Given the description of an element on the screen output the (x, y) to click on. 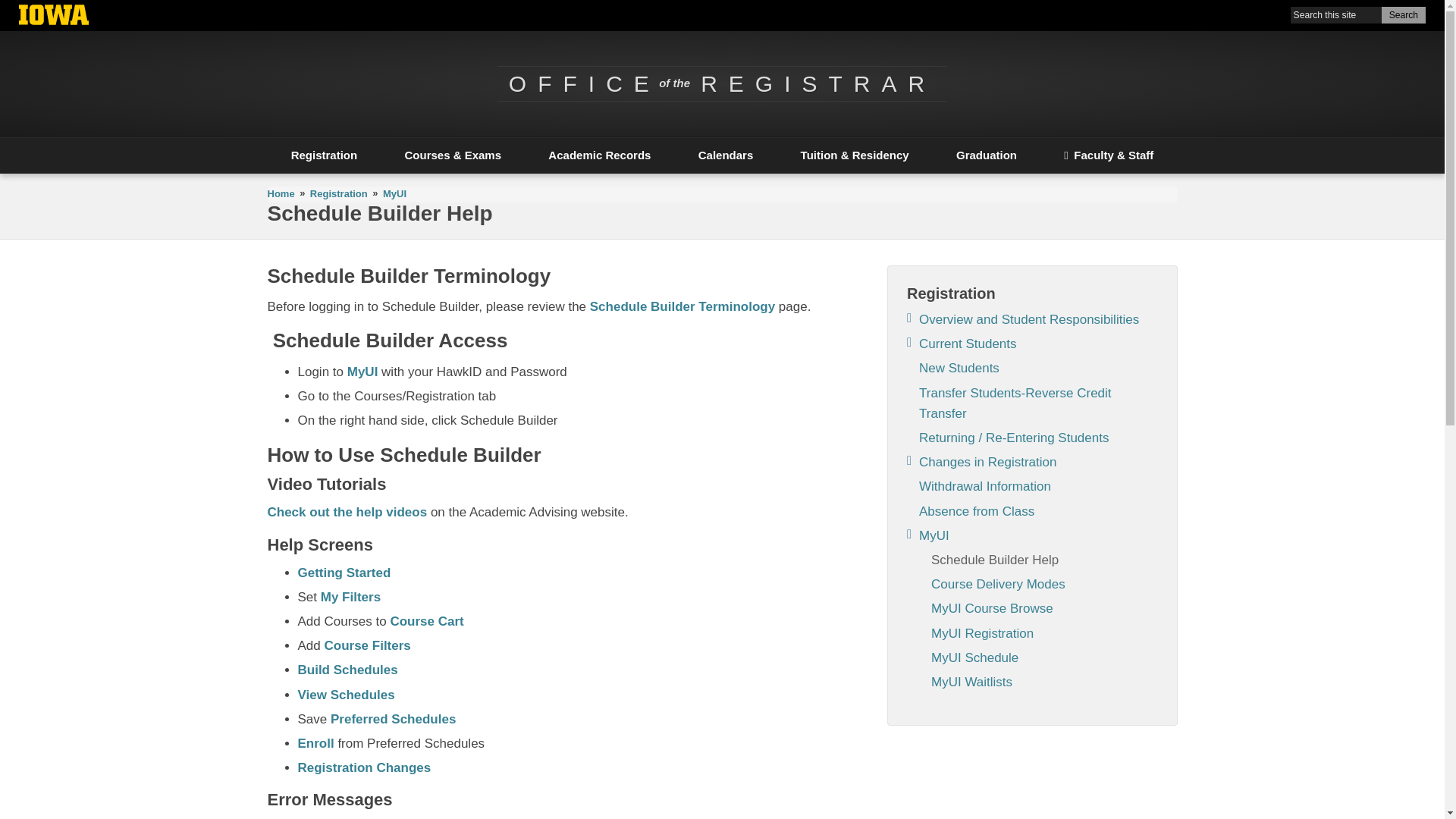
Calendars and Deadlines (726, 154)
Registration Information (339, 193)
Academic Records (599, 154)
Registration Information (323, 154)
Search (1403, 14)
Tuition and Residency Information (853, 154)
Registration (323, 154)
Faculty and Staff (1108, 155)
Search (1403, 14)
Graduation and Commencement (987, 154)
The University of Iowa (53, 16)
Course and Exam Information (452, 154)
